Given the description of an element on the screen output the (x, y) to click on. 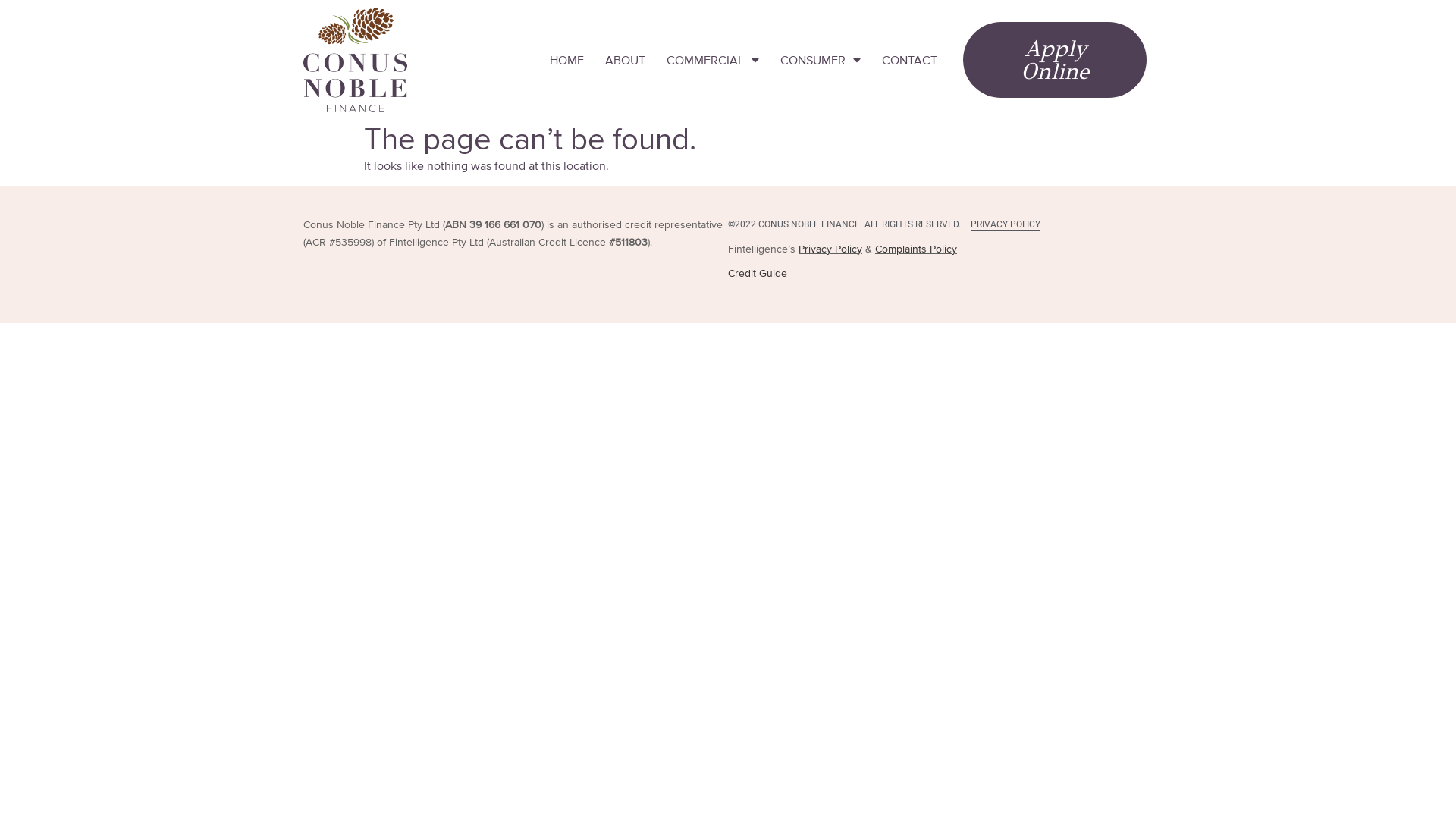
Credit Guide Element type: text (757, 273)
Complaints Policy Element type: text (916, 248)
HOME Element type: text (566, 59)
Privacy Policy Element type: text (830, 248)
ABOUT Element type: text (624, 59)
COMMERCIAL Element type: text (712, 59)
PRIVACY POLICY Element type: text (1005, 224)
CONTACT Element type: text (909, 59)
Apply Online Element type: text (1054, 59)
CONSUMER Element type: text (820, 59)
